Given the description of an element on the screen output the (x, y) to click on. 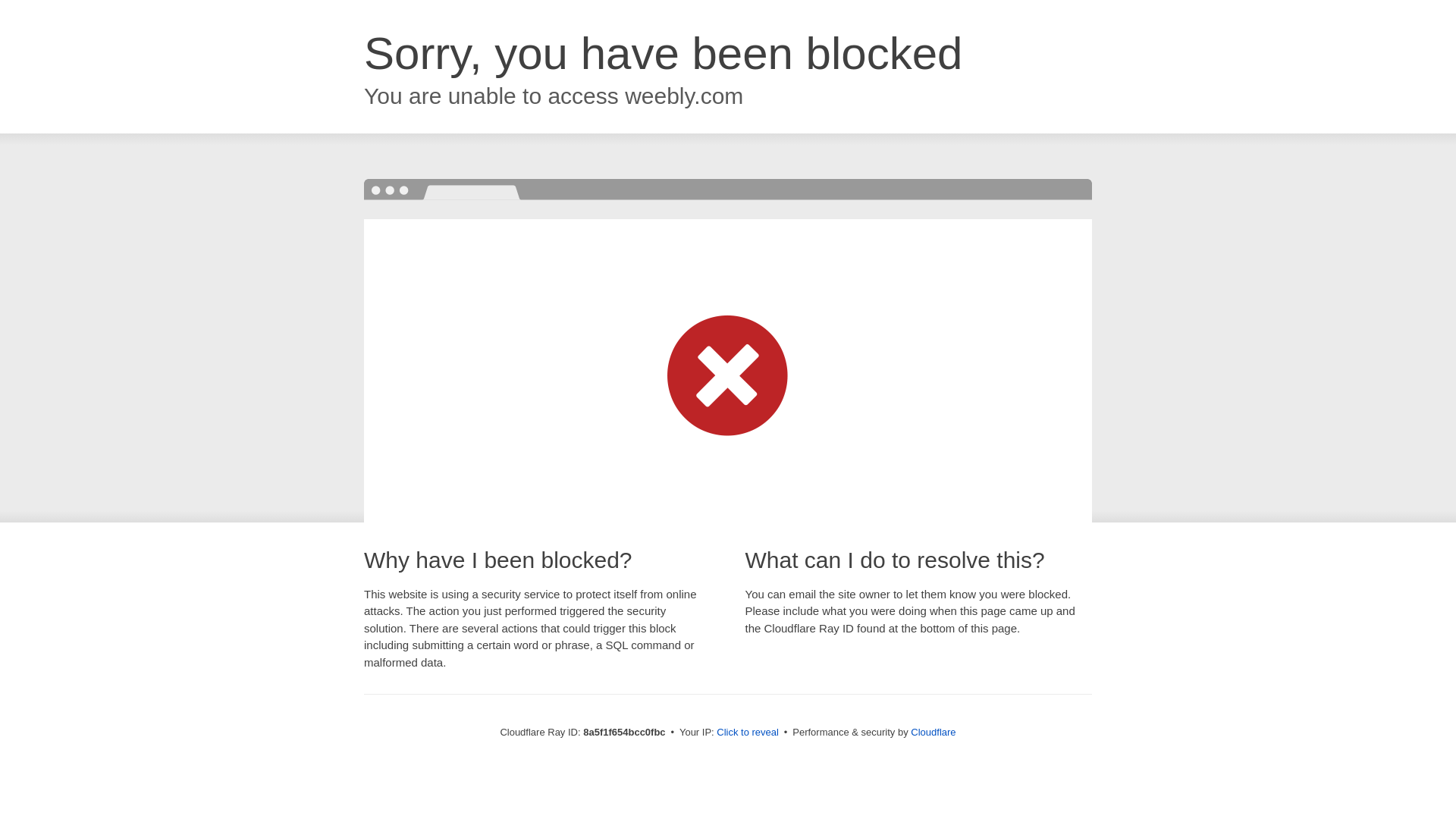
Click to reveal (747, 732)
Cloudflare (933, 731)
